Given the description of an element on the screen output the (x, y) to click on. 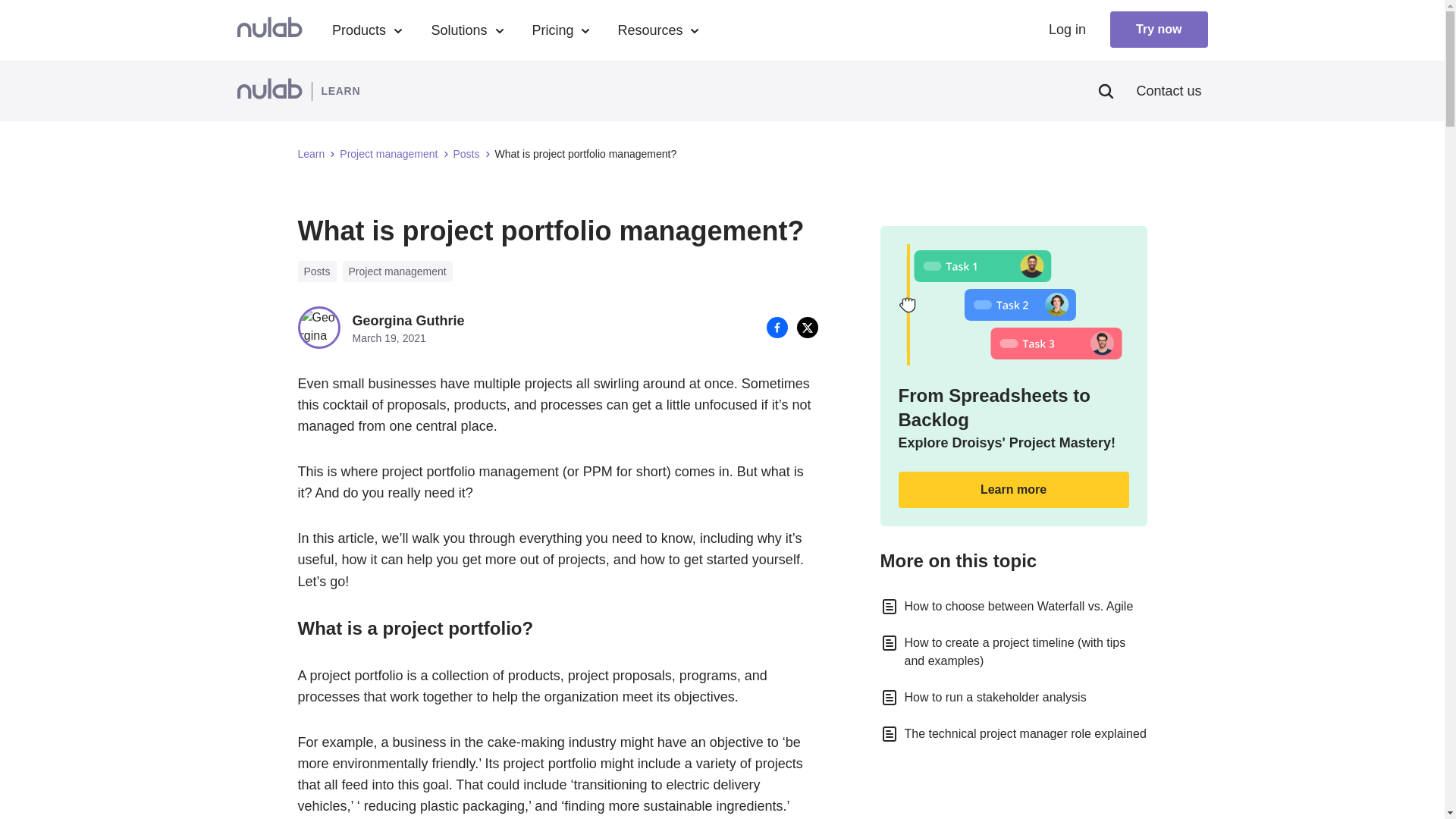
Products (358, 29)
Pricing (560, 29)
Products (366, 29)
Solutions (459, 29)
Solutions (466, 29)
